Given the description of an element on the screen output the (x, y) to click on. 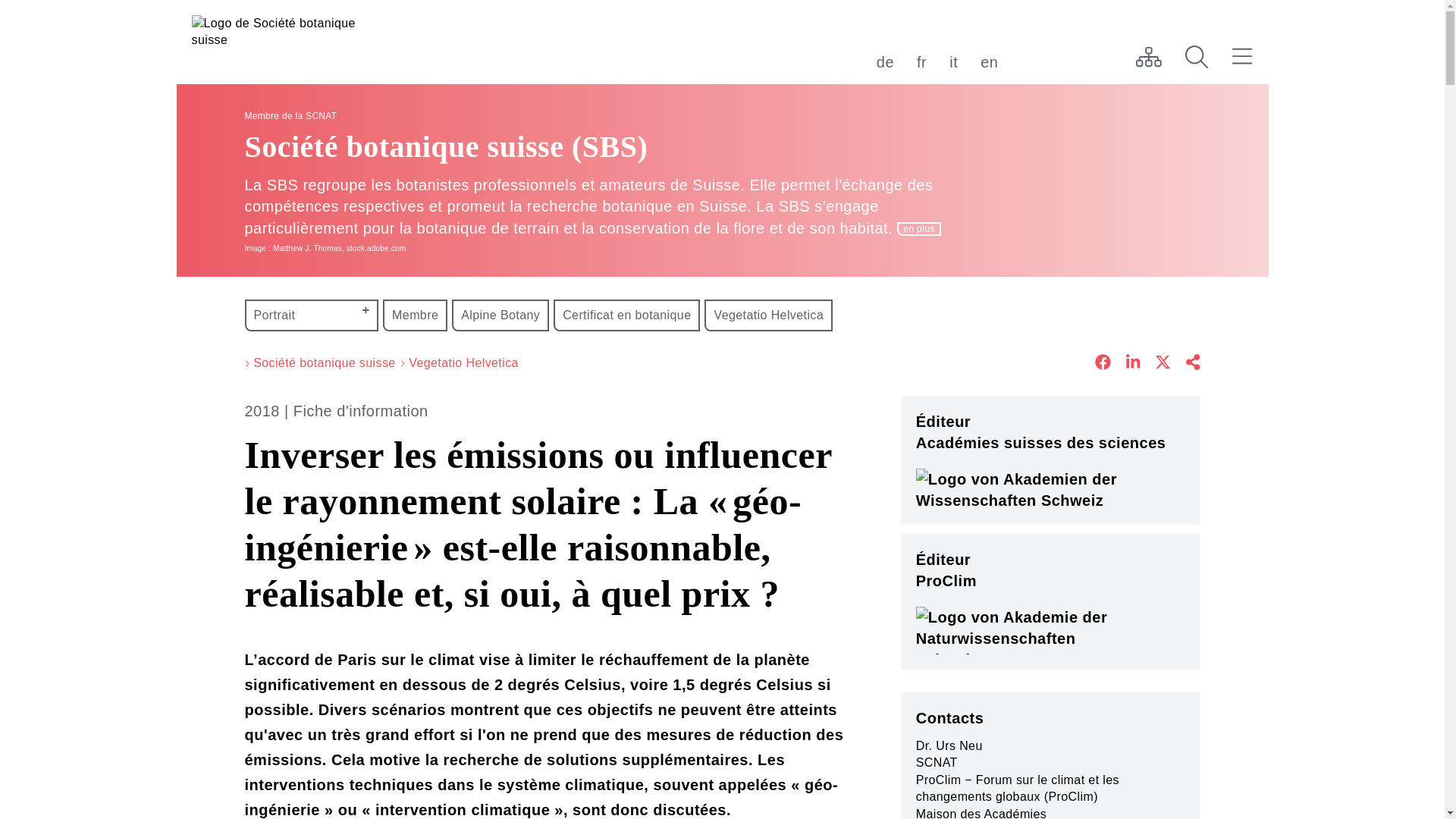
Portrait Element type: text (310, 315)
en plus Element type: text (919, 228)
fr Element type: text (921, 62)
it Element type: text (953, 62)
Membre Element type: text (414, 315)
de Element type: text (885, 62)
Alpine Botany Element type: text (500, 315)
Partager sur X Element type: hover (1154, 363)
Partager comme lien court Element type: hover (1184, 363)
en Element type: text (988, 62)
Certificat en botanique Element type: text (626, 315)
Partager sur LinkedIn Element type: hover (1124, 363)
Vegetatio Helvetica Element type: text (463, 362)
Vegetatio Helvetica Element type: text (768, 315)
Rechercher Element type: hover (1196, 56)
Membre de la SCNAT Element type: text (290, 114)
Partager sur Facebook Element type: hover (1094, 363)
Menu Element type: hover (1241, 56)
